Given the description of an element on the screen output the (x, y) to click on. 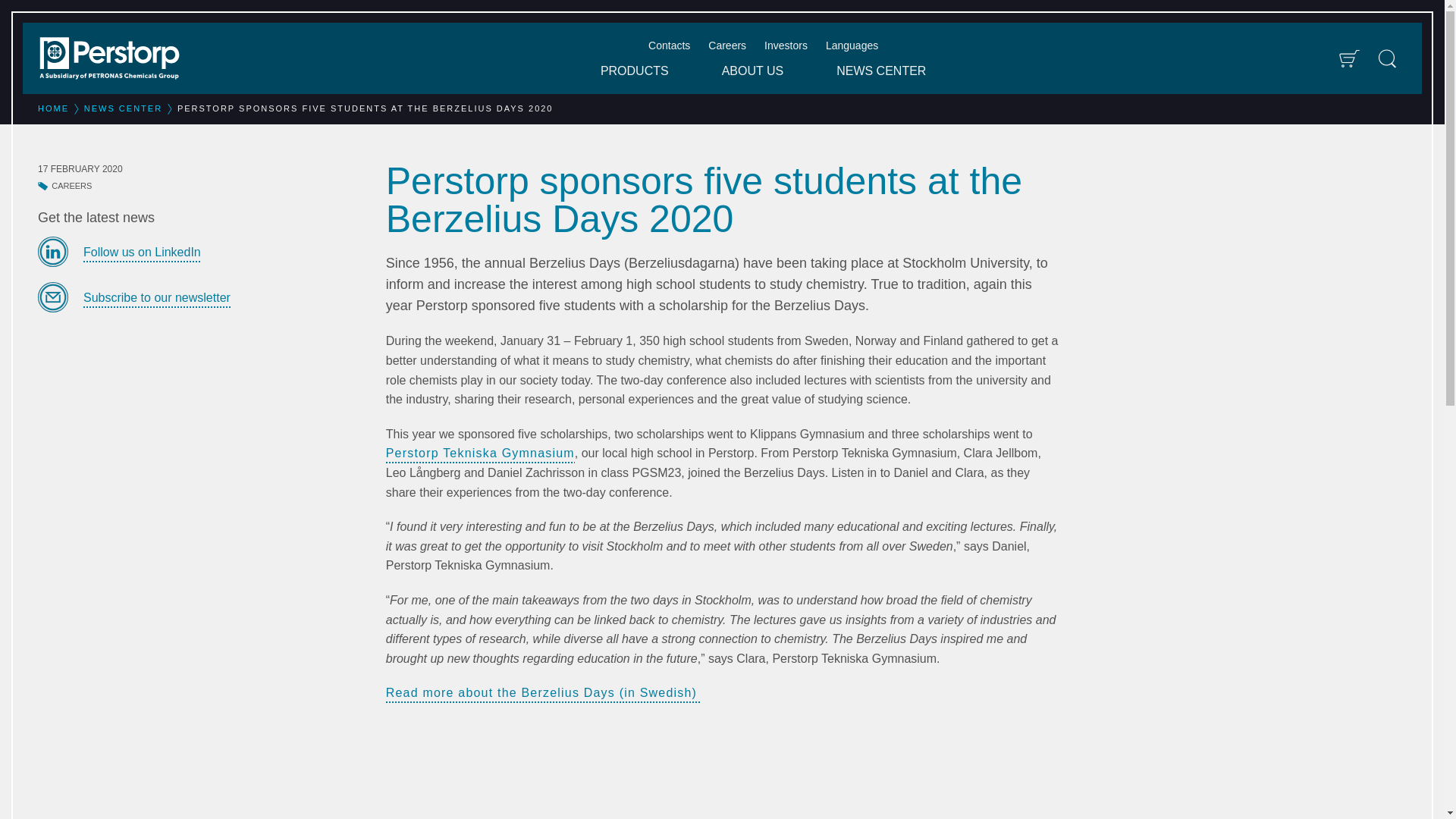
PRODUCTS (633, 71)
Careers (726, 45)
Contacts (668, 45)
Investors (786, 45)
Languages (851, 45)
LinkedIn (199, 251)
